Given the description of an element on the screen output the (x, y) to click on. 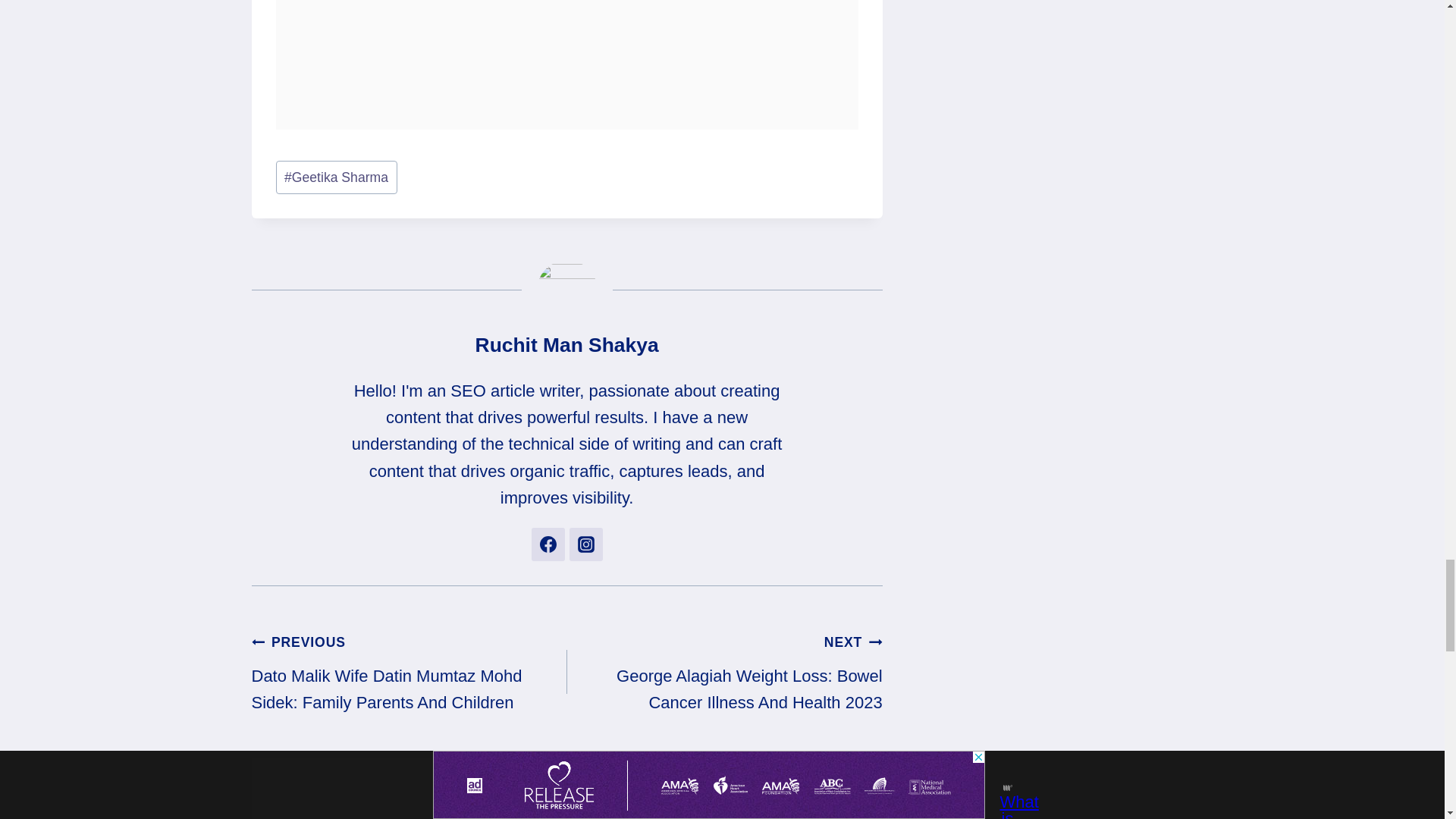
Follow Ruchit Man Shakya on Facebook (547, 544)
Ruchit Man Shakya (567, 344)
Geetika Sharma (336, 177)
Posts by Ruchit Man Shakya (567, 344)
Follow Ruchit Man Shakya on Instagram (585, 544)
